Given the description of an element on the screen output the (x, y) to click on. 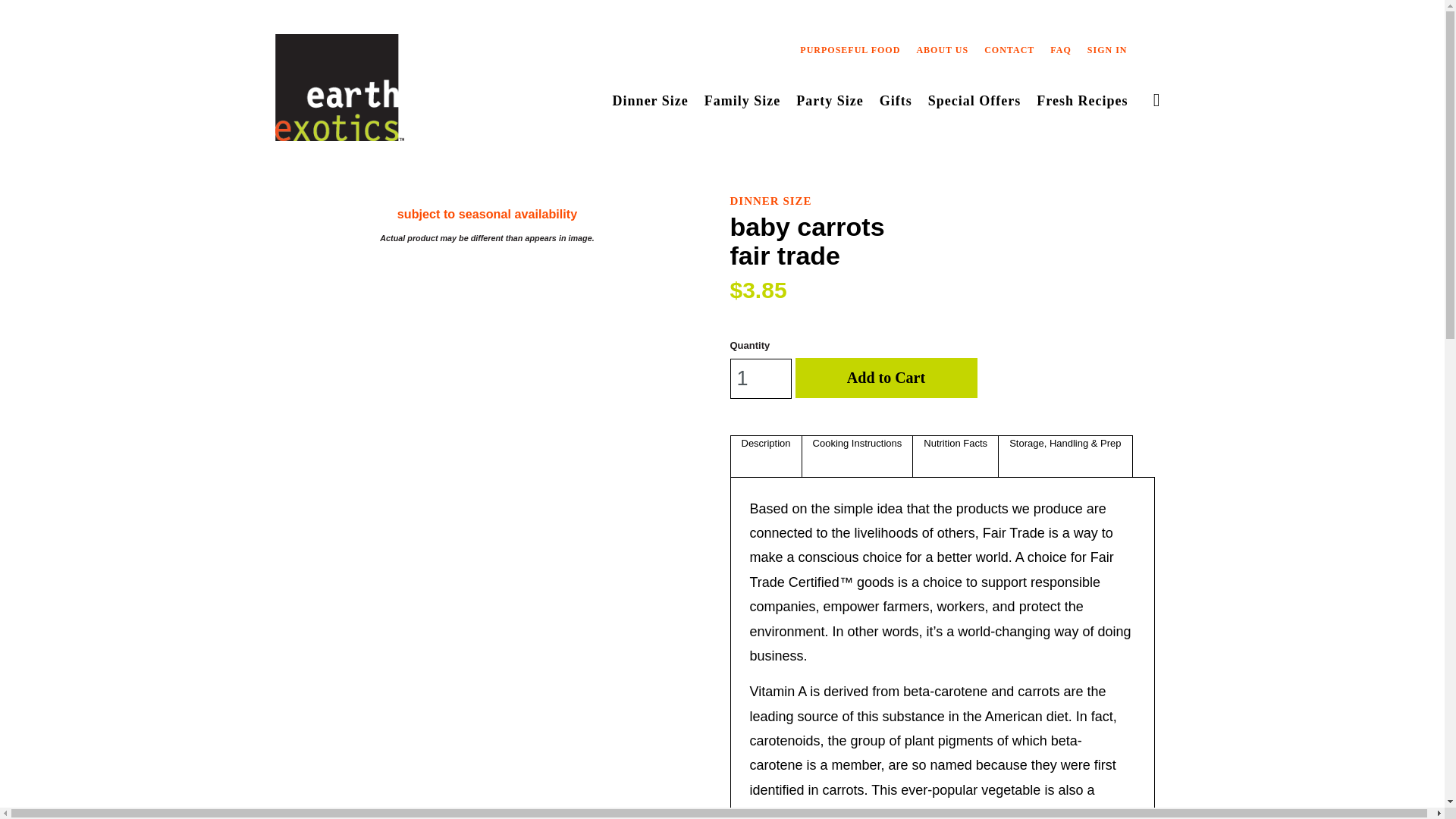
ABOUT US (941, 53)
Add to Cart (885, 377)
Fresh Recipes (1081, 104)
CONTACT (1008, 53)
FAQ (1059, 53)
Earth Exotics (339, 92)
DINNER SIZE (769, 200)
Purposeful Food (849, 53)
Contact (1008, 53)
FAQ (1059, 53)
